Given the description of an element on the screen output the (x, y) to click on. 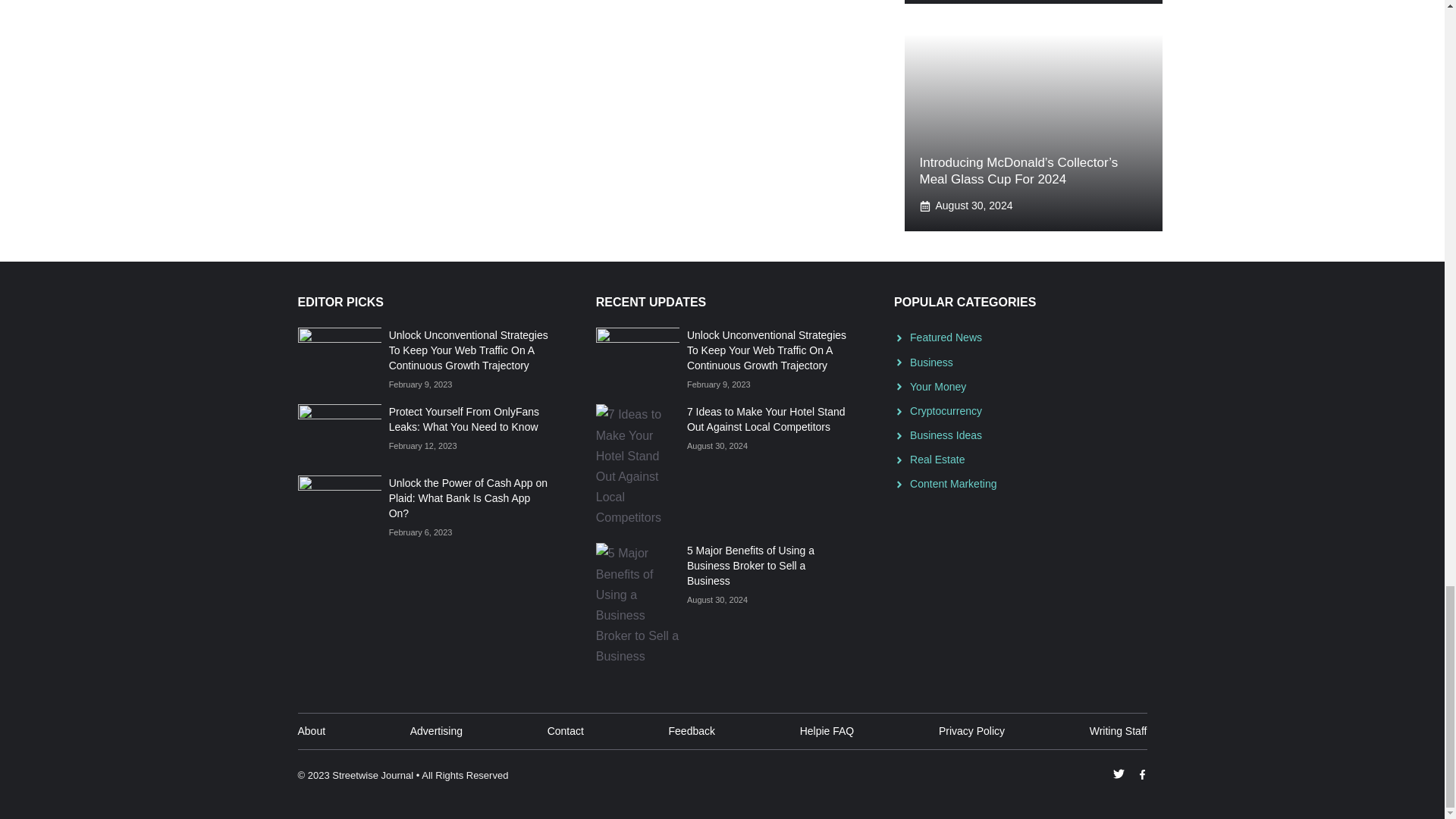
Featured News (945, 337)
Business (931, 362)
Protect Yourself From OnlyFans Leaks: What You Need to Know (463, 419)
